Given the description of an element on the screen output the (x, y) to click on. 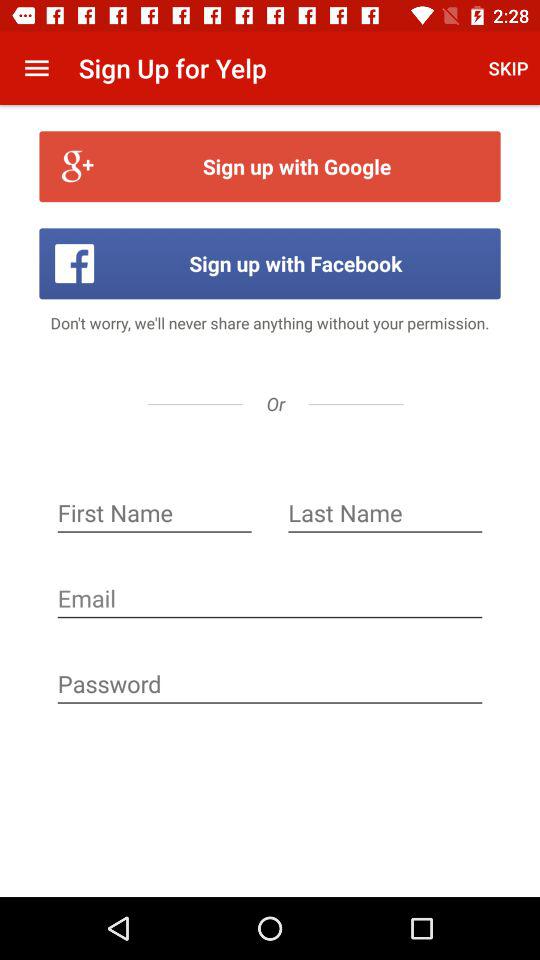
turn on icon above sign up with icon (508, 68)
